Given the description of an element on the screen output the (x, y) to click on. 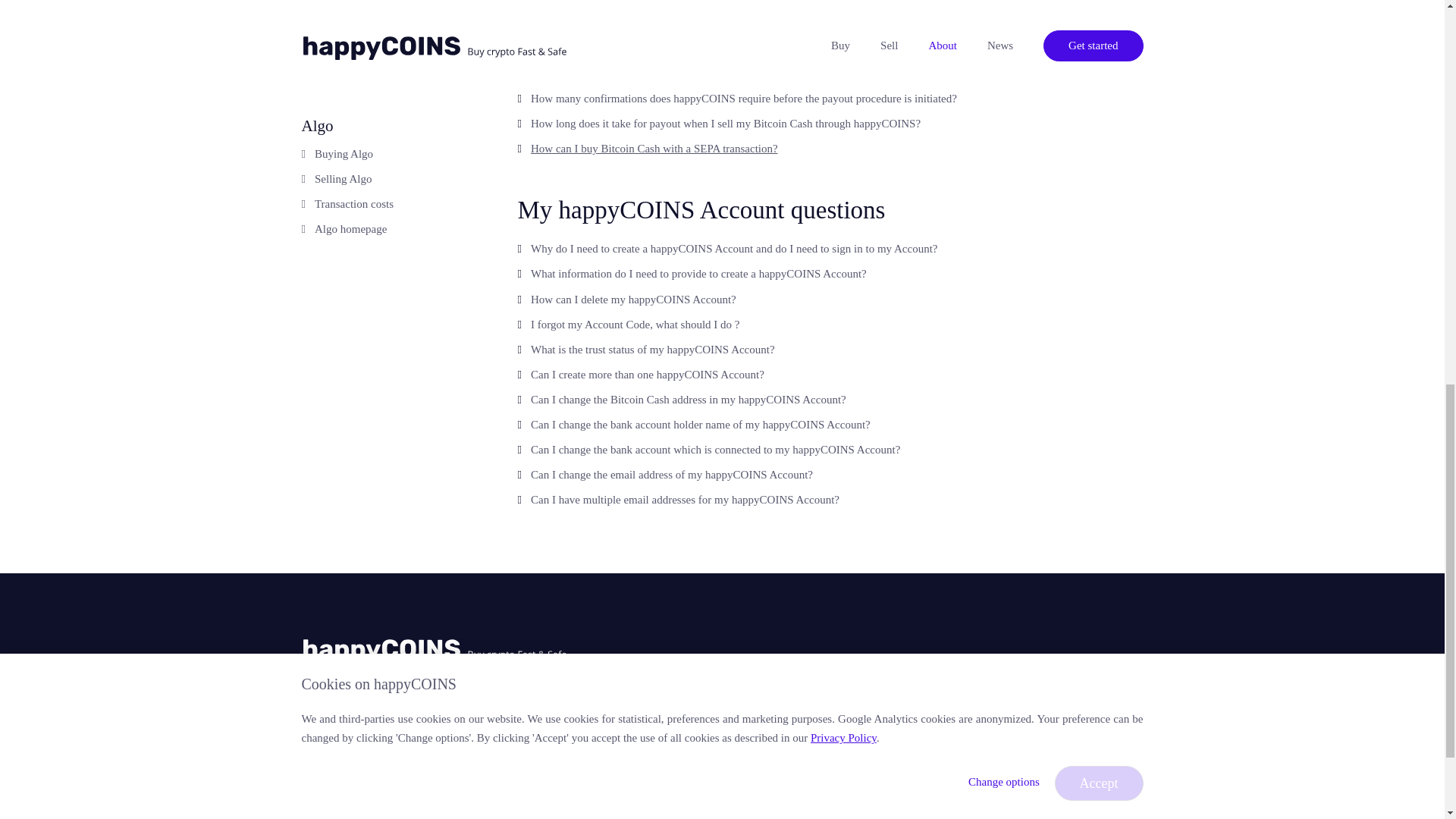
Transaction costs (353, 44)
Selling Lumen (347, 19)
Buying Lumen (348, 3)
Lumen homepage (355, 69)
